Given the description of an element on the screen output the (x, y) to click on. 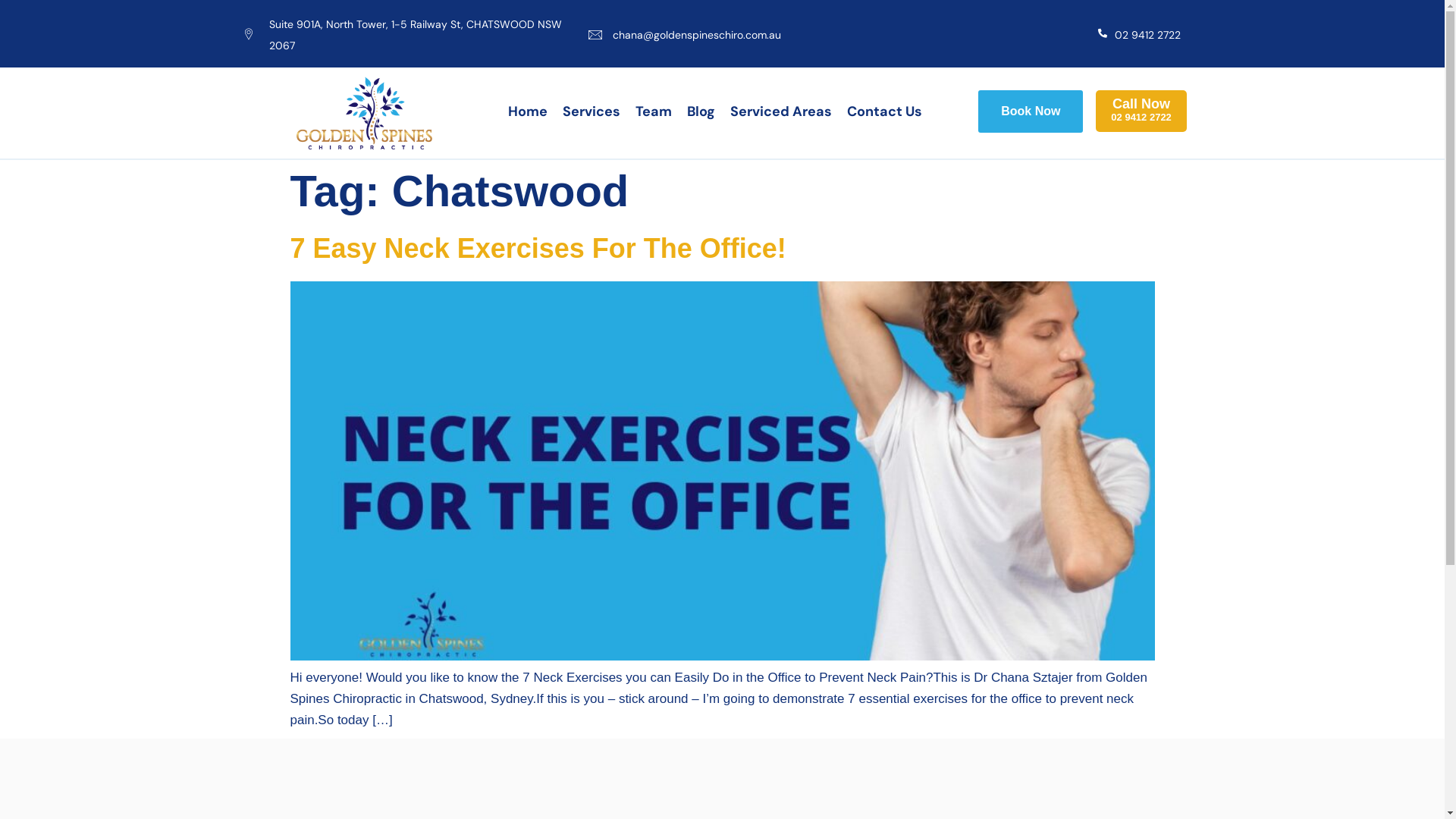
Team Element type: text (653, 111)
Blog Element type: text (700, 111)
Contact Us Element type: text (883, 111)
Serviced Areas Element type: text (779, 111)
Services Element type: text (591, 111)
Book Now Element type: text (1030, 111)
Call Now
02 9412 2722 Element type: text (1140, 110)
7 Easy Neck Exercises For The Office! Element type: text (537, 247)
chana@goldenspineschiro.com.au Element type: text (696, 34)
Home Element type: text (527, 111)
02 9412 2722 Element type: text (1147, 34)
